Given the description of an element on the screen output the (x, y) to click on. 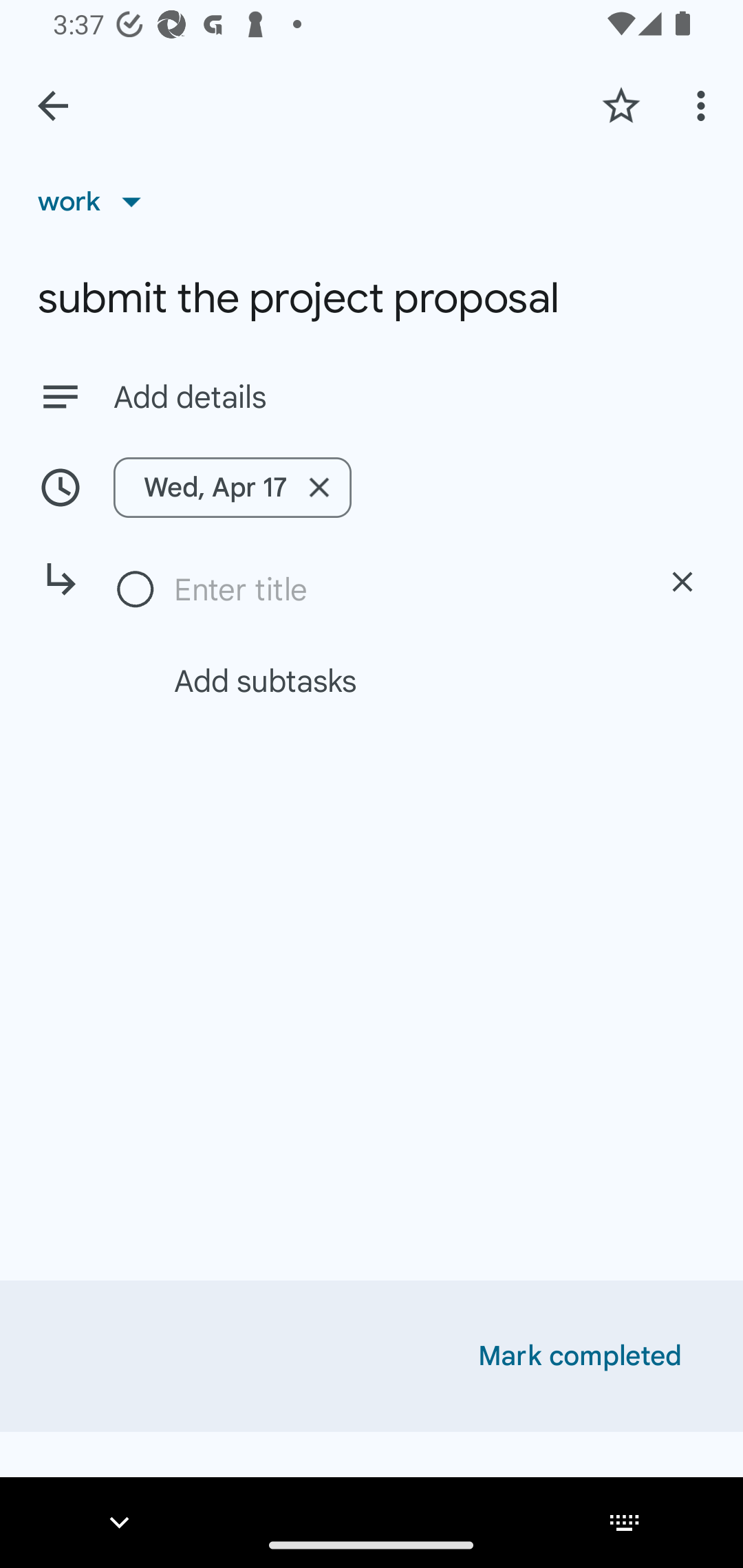
Back (53, 105)
Add star (620, 105)
More options (704, 105)
work List, work selected, 1 of 6 (95, 201)
submit the project proposal (371, 298)
Add details (371, 396)
Add details (409, 397)
Wed, Apr 17 Remove date/time (371, 487)
Wed, Apr 17 Remove date/time (232, 487)
Enter title (401, 589)
Delete subtask (682, 581)
Mark as complete (136, 590)
Add subtasks (394, 680)
Mark completed (580, 1355)
